Given the description of an element on the screen output the (x, y) to click on. 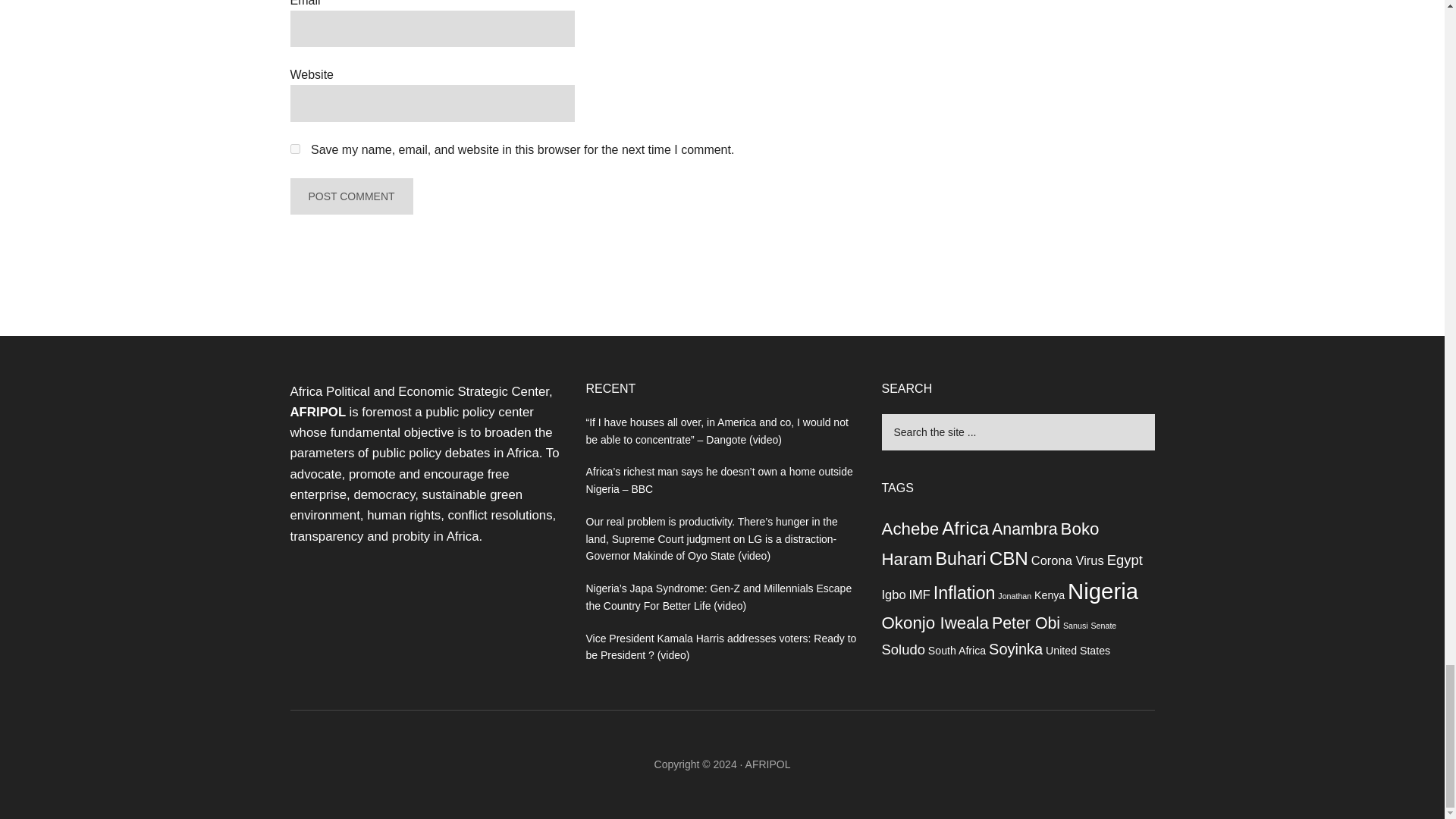
yes (294, 148)
Post Comment (350, 195)
Post Comment (350, 195)
